Given the description of an element on the screen output the (x, y) to click on. 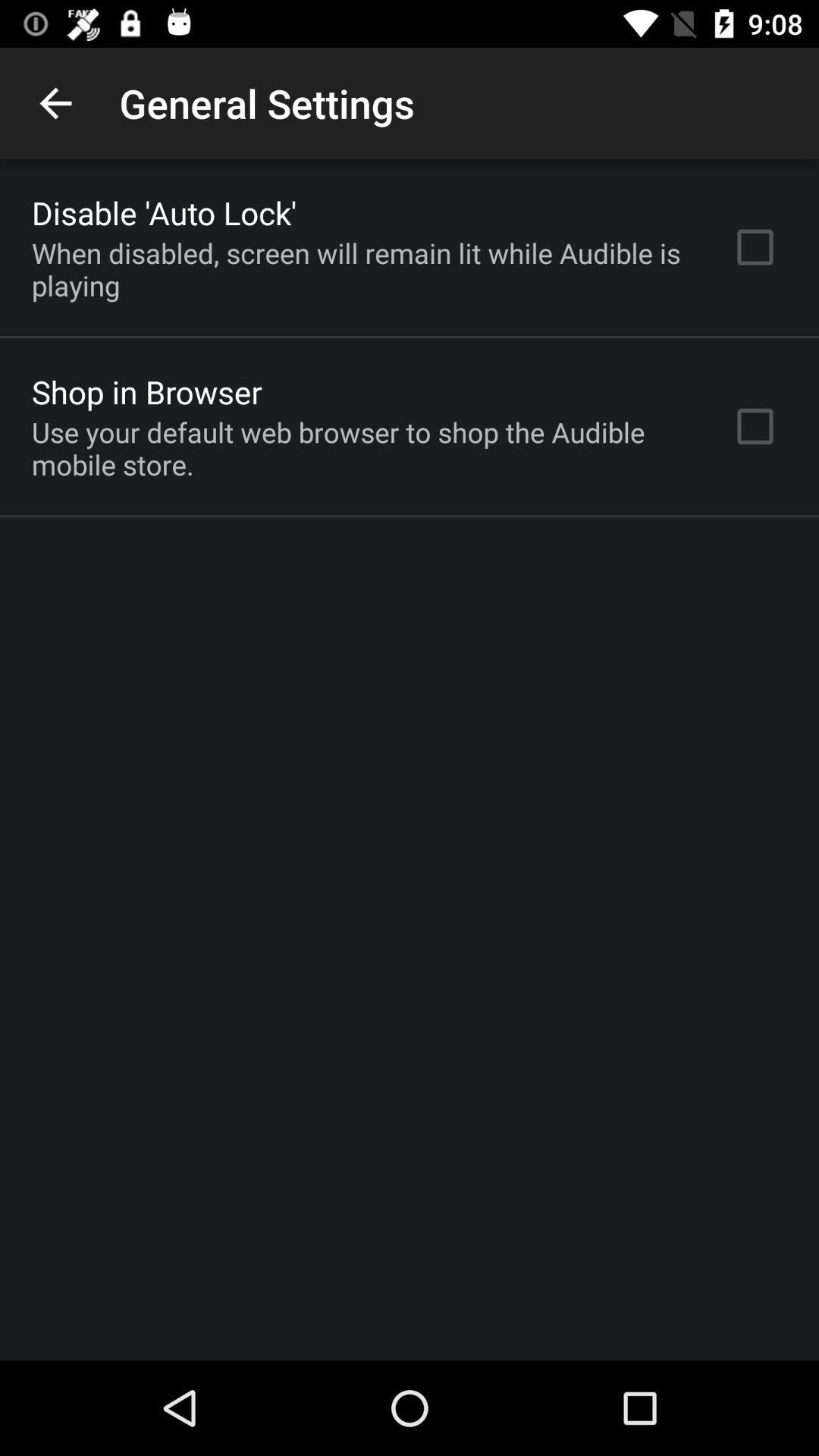
open use your default icon (361, 448)
